Given the description of an element on the screen output the (x, y) to click on. 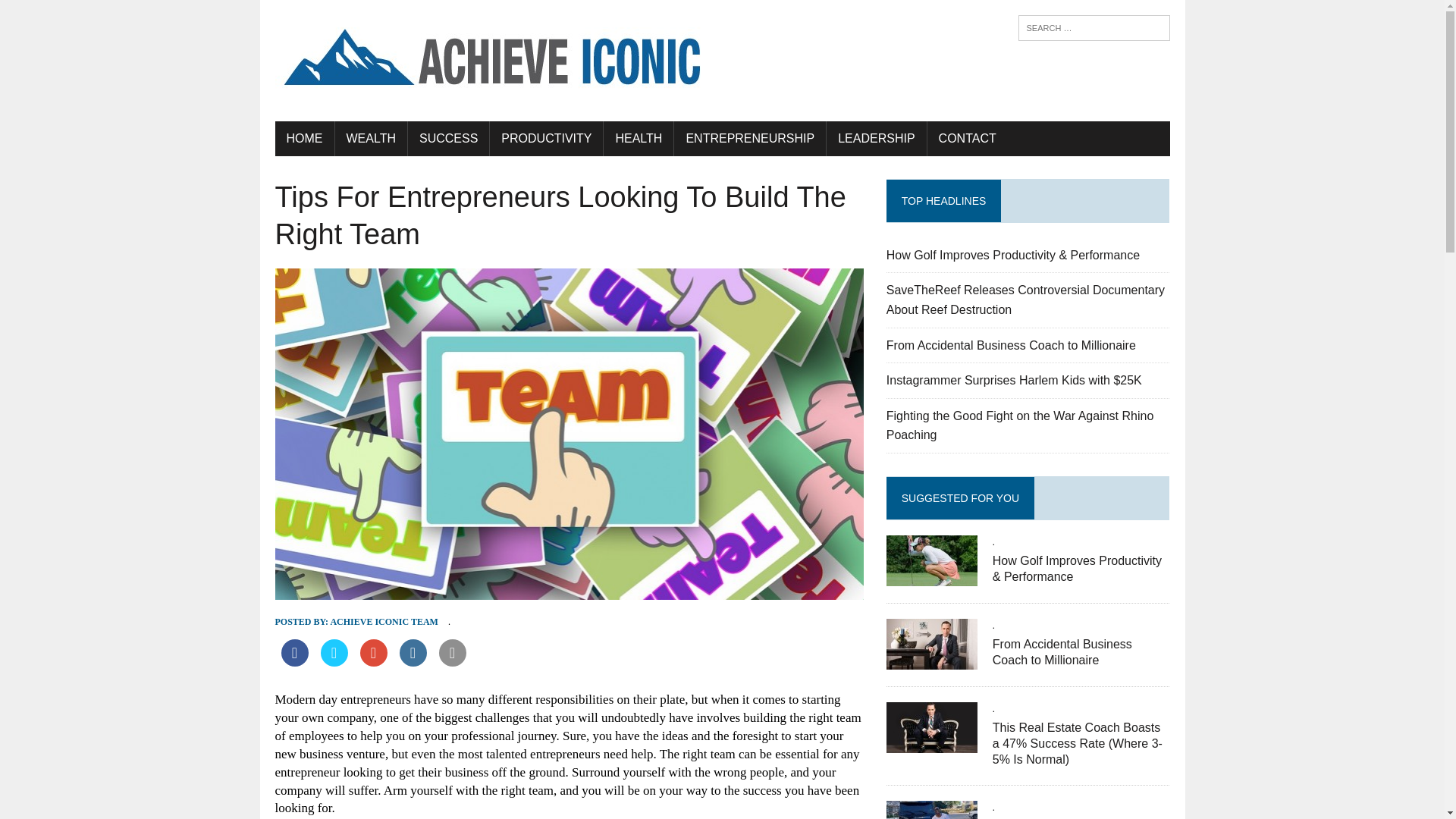
ENTREPRENEURSHIP (749, 138)
SUCCESS (448, 138)
LEADERSHIP (876, 138)
WEALTH (370, 138)
ACHIEVE ICONIC TEAM (384, 621)
CONTACT (967, 138)
HOME (304, 138)
Achieve Iconic (722, 60)
HEALTH (638, 138)
Search (75, 14)
PRODUCTIVITY (545, 138)
From Accidental Business Coach to Millionaire (1010, 345)
Search for: (1093, 27)
